Given the description of an element on the screen output the (x, y) to click on. 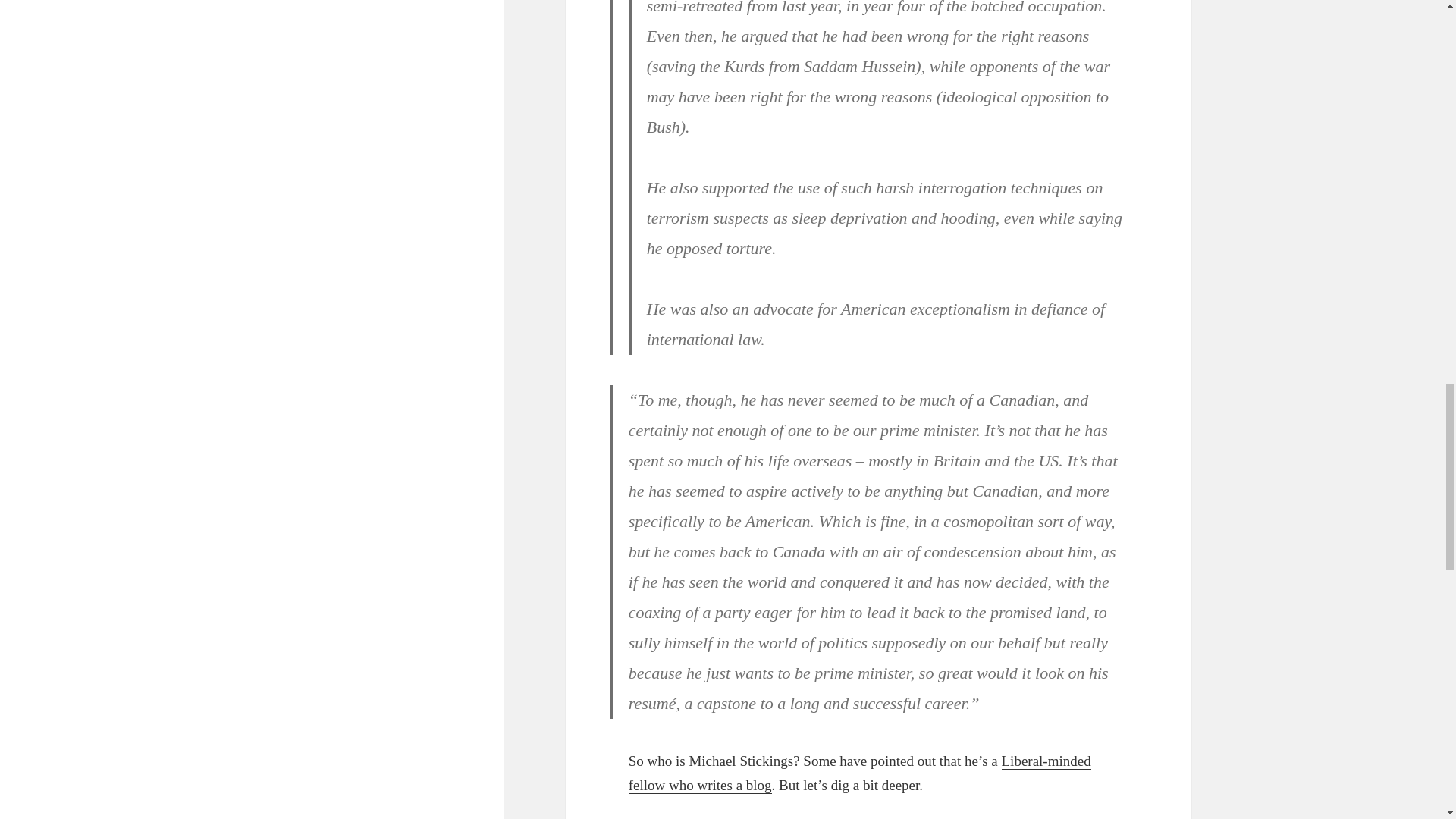
Liberal-minded fellow who writes a blog (859, 772)
